Given the description of an element on the screen output the (x, y) to click on. 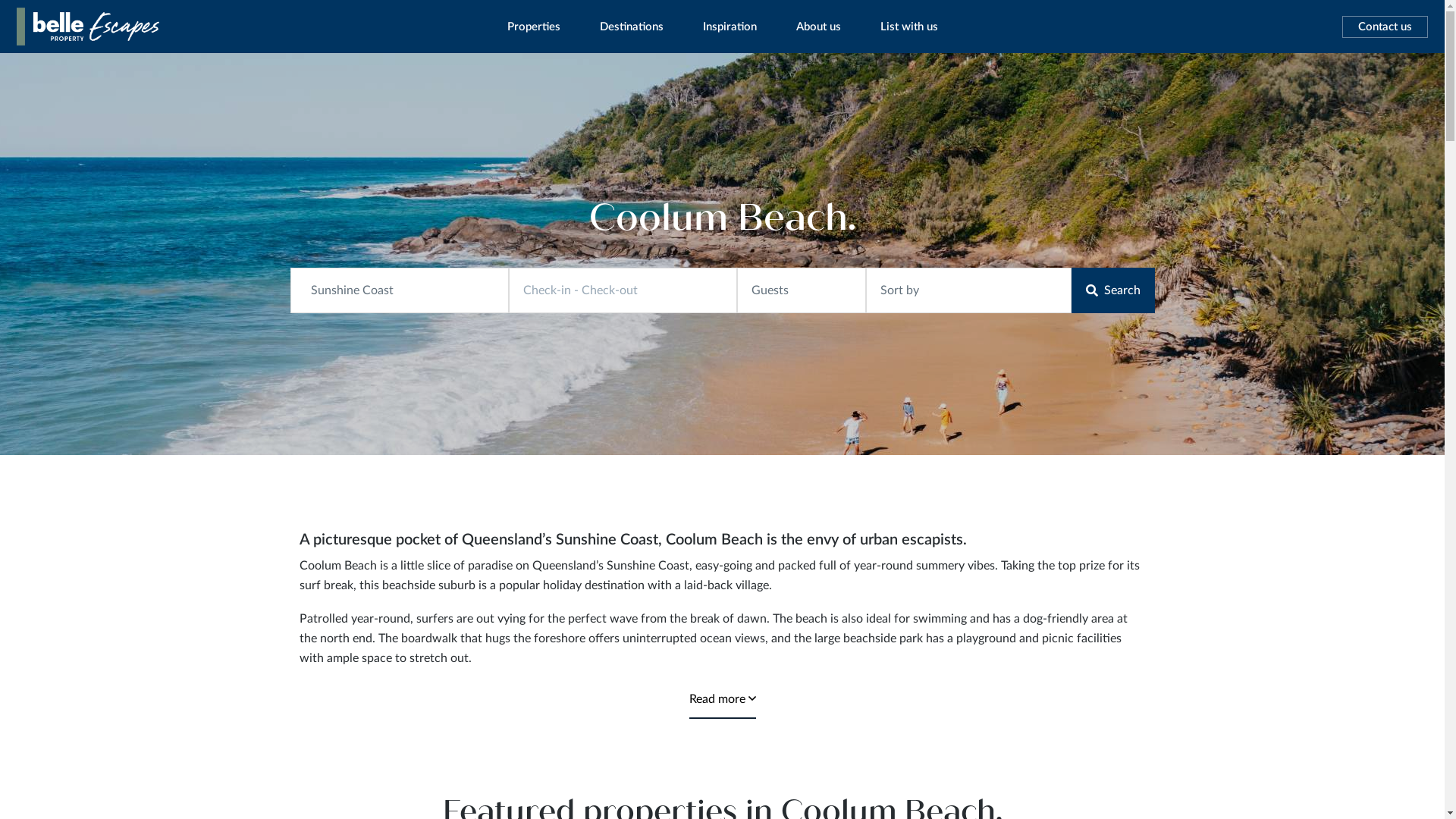
Search Element type: text (1112, 290)
Properties Element type: text (533, 26)
List with us Element type: text (909, 26)
Read more Element type: text (721, 699)
About us Element type: text (818, 26)
Contact us Element type: text (1384, 26)
Inspiration Element type: text (729, 26)
Destinations Element type: text (631, 26)
Belle Escapes Element type: text (67, 70)
